Given the description of an element on the screen output the (x, y) to click on. 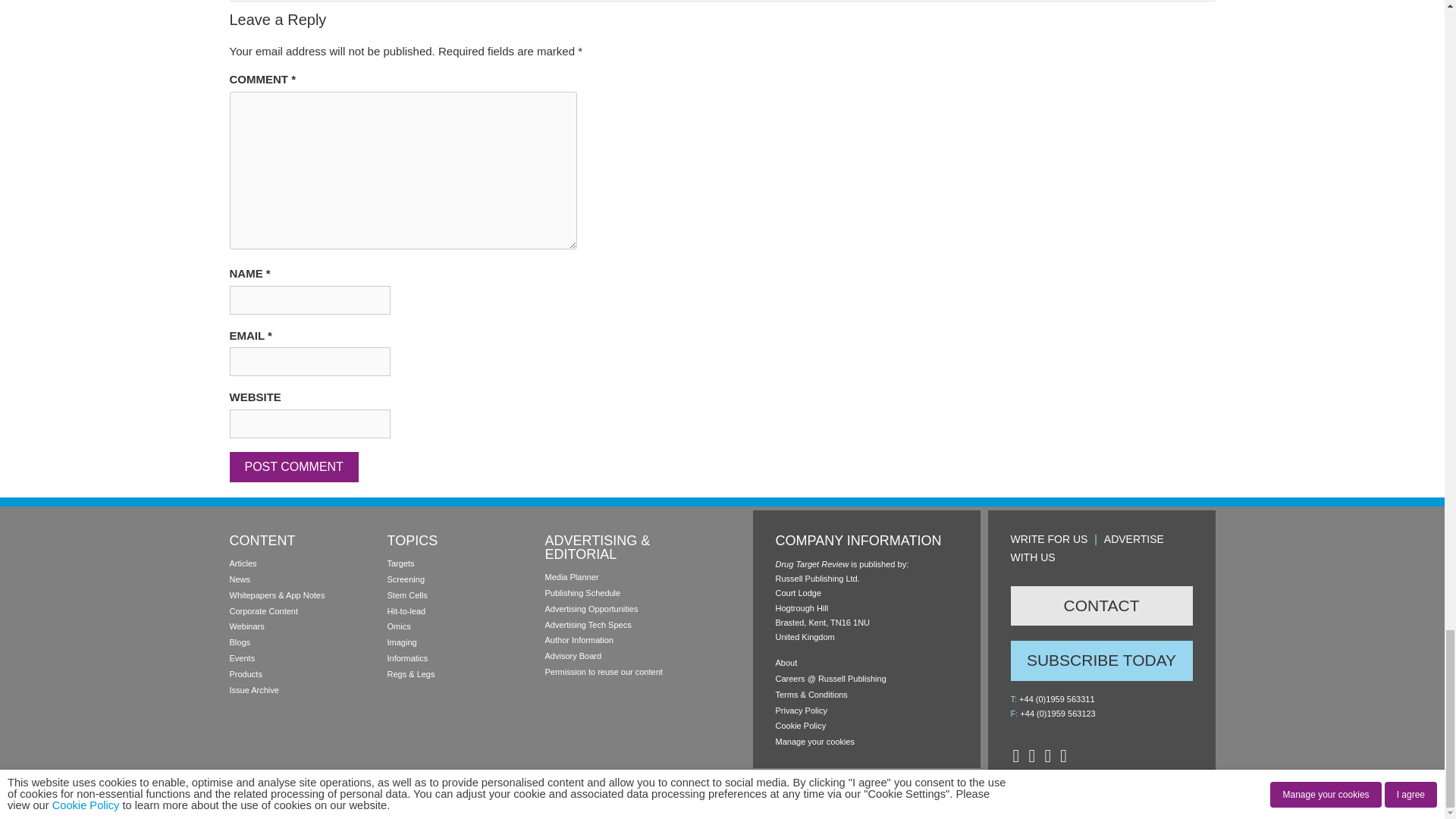
Post Comment (293, 467)
